Given the description of an element on the screen output the (x, y) to click on. 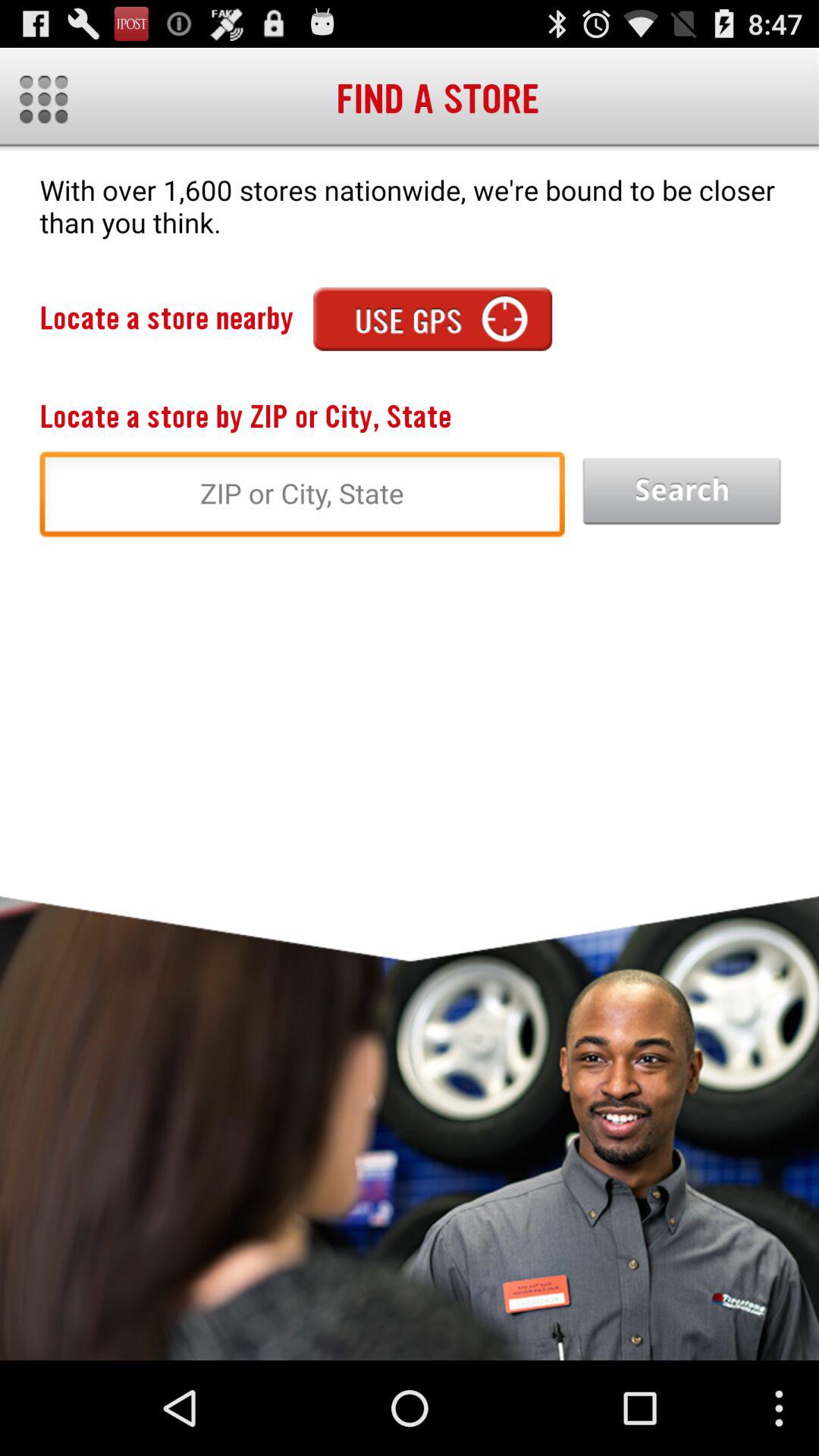
go to search (681, 491)
